Given the description of an element on the screen output the (x, y) to click on. 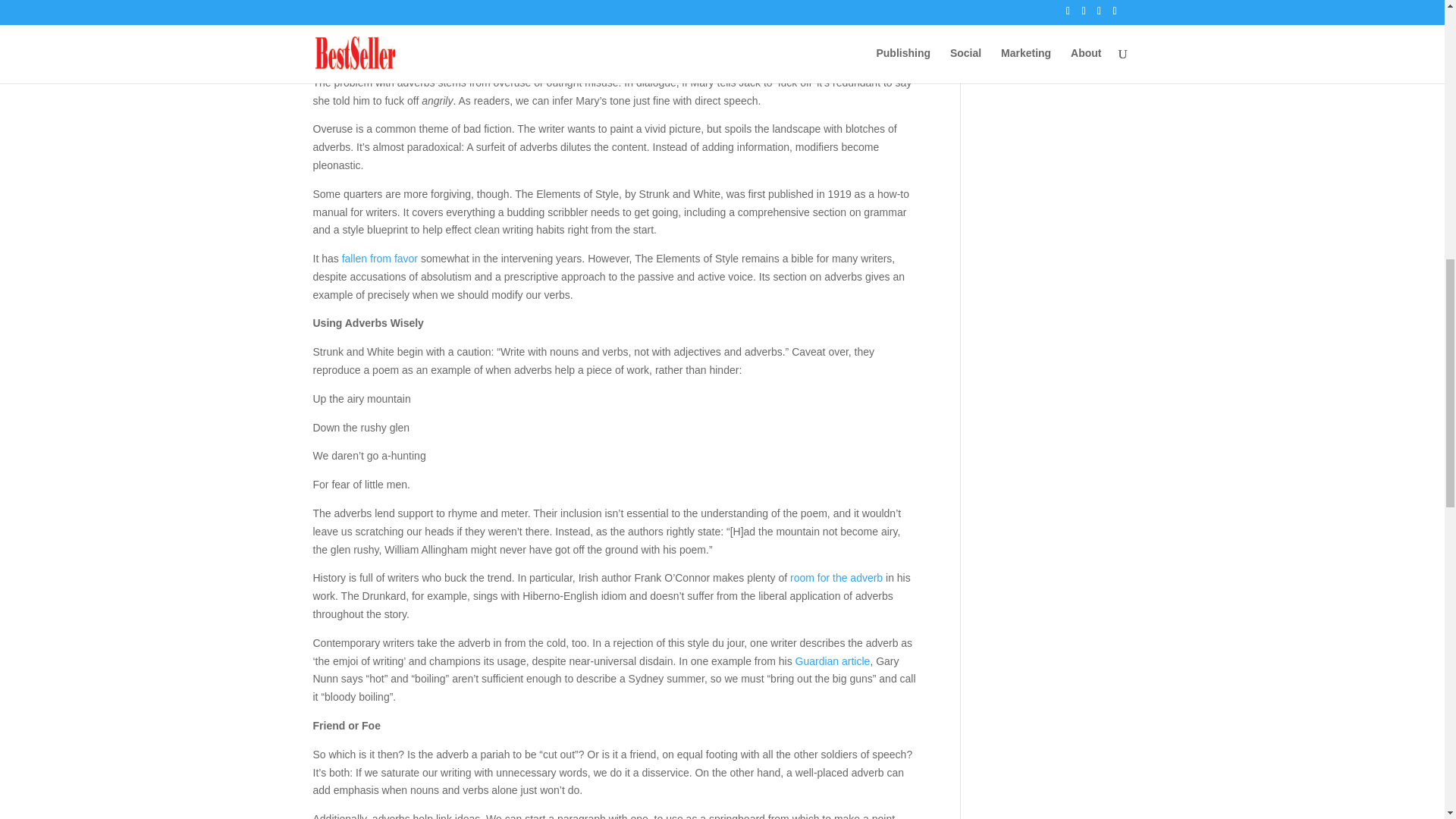
fallen from favor (379, 258)
room for the adverb (836, 577)
Guardian article (832, 661)
